Given the description of an element on the screen output the (x, y) to click on. 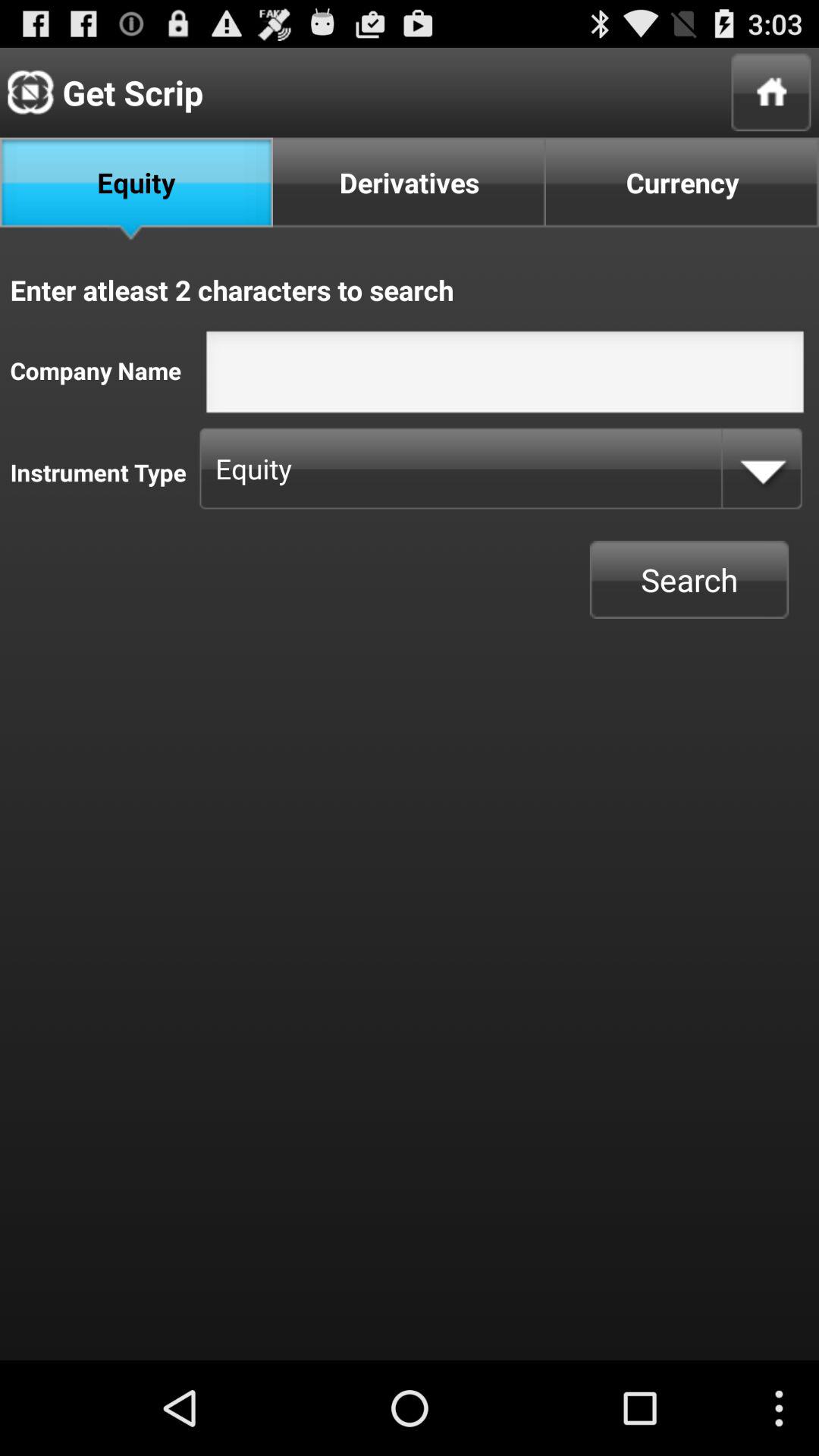
go to home (771, 92)
